Given the description of an element on the screen output the (x, y) to click on. 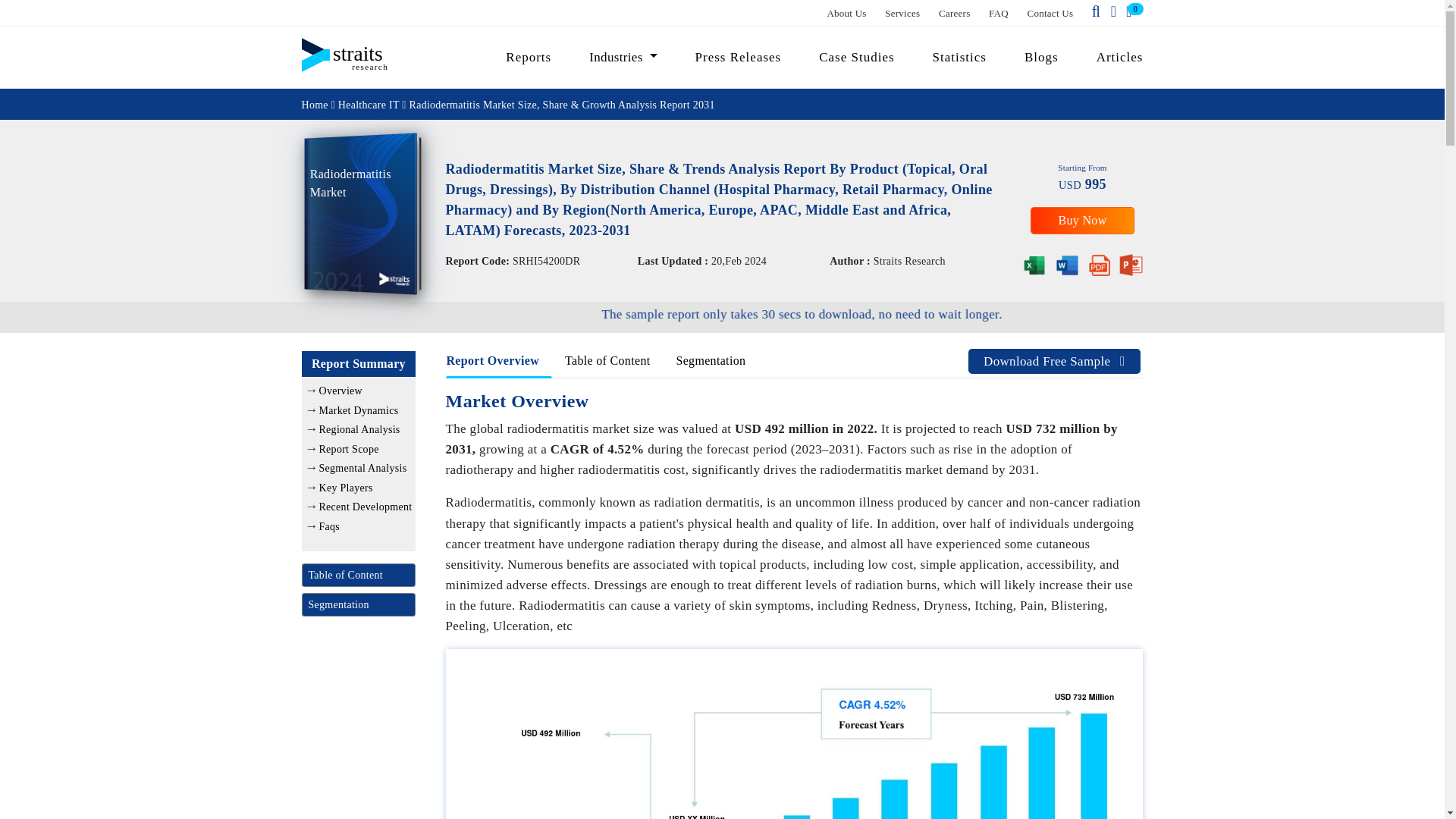
Careers (955, 12)
Case Studies (856, 56)
Segmental Analysis (362, 468)
Faqs (328, 525)
About Us (846, 12)
Overview (339, 390)
Press Releases (738, 56)
Market Dynamics (357, 410)
Blogs (1041, 56)
Home (315, 103)
